Given the description of an element on the screen output the (x, y) to click on. 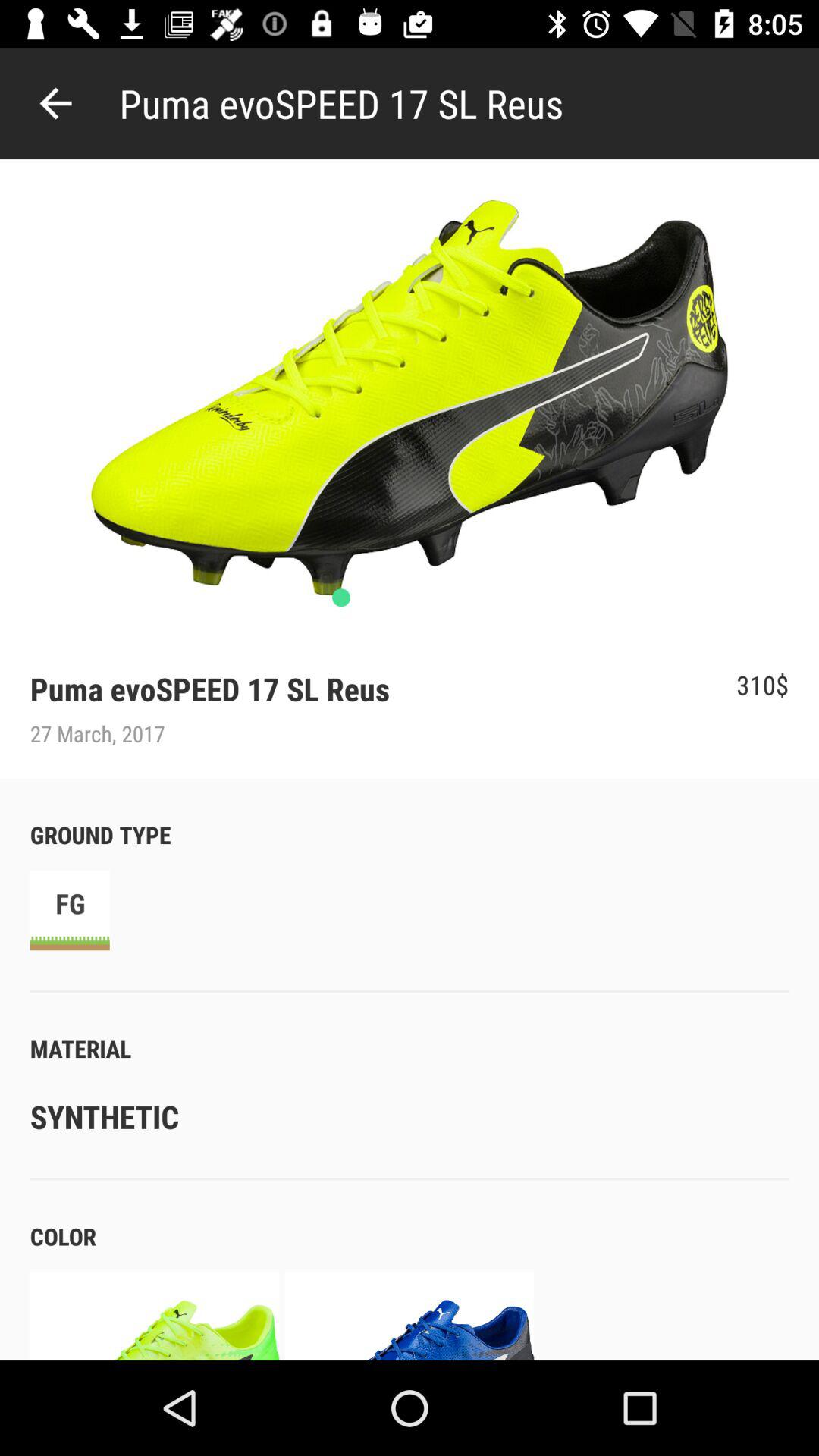
tap the icon at the top left corner (55, 103)
